Given the description of an element on the screen output the (x, y) to click on. 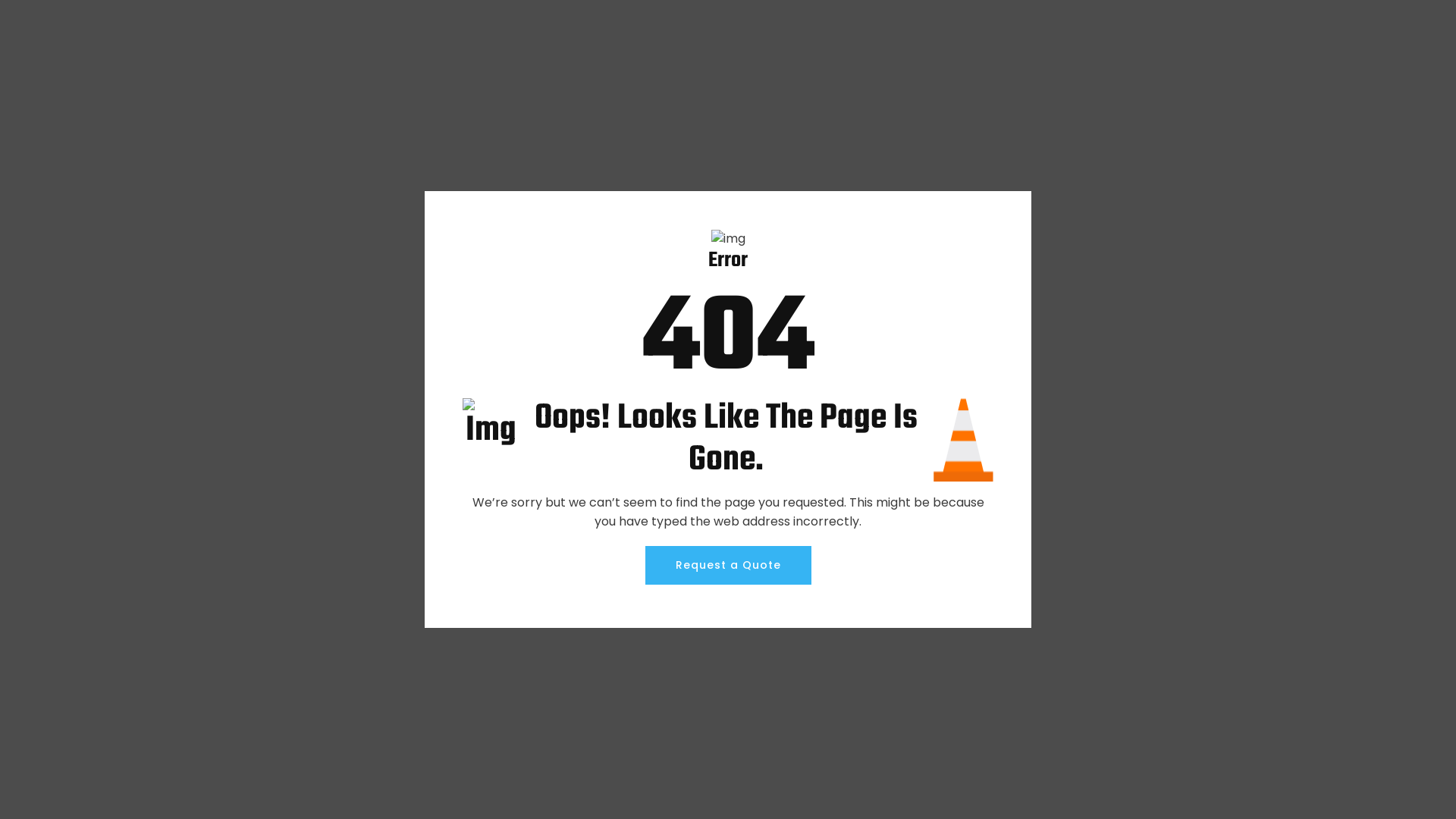
Request a Quote Element type: text (727, 565)
